Given the description of an element on the screen output the (x, y) to click on. 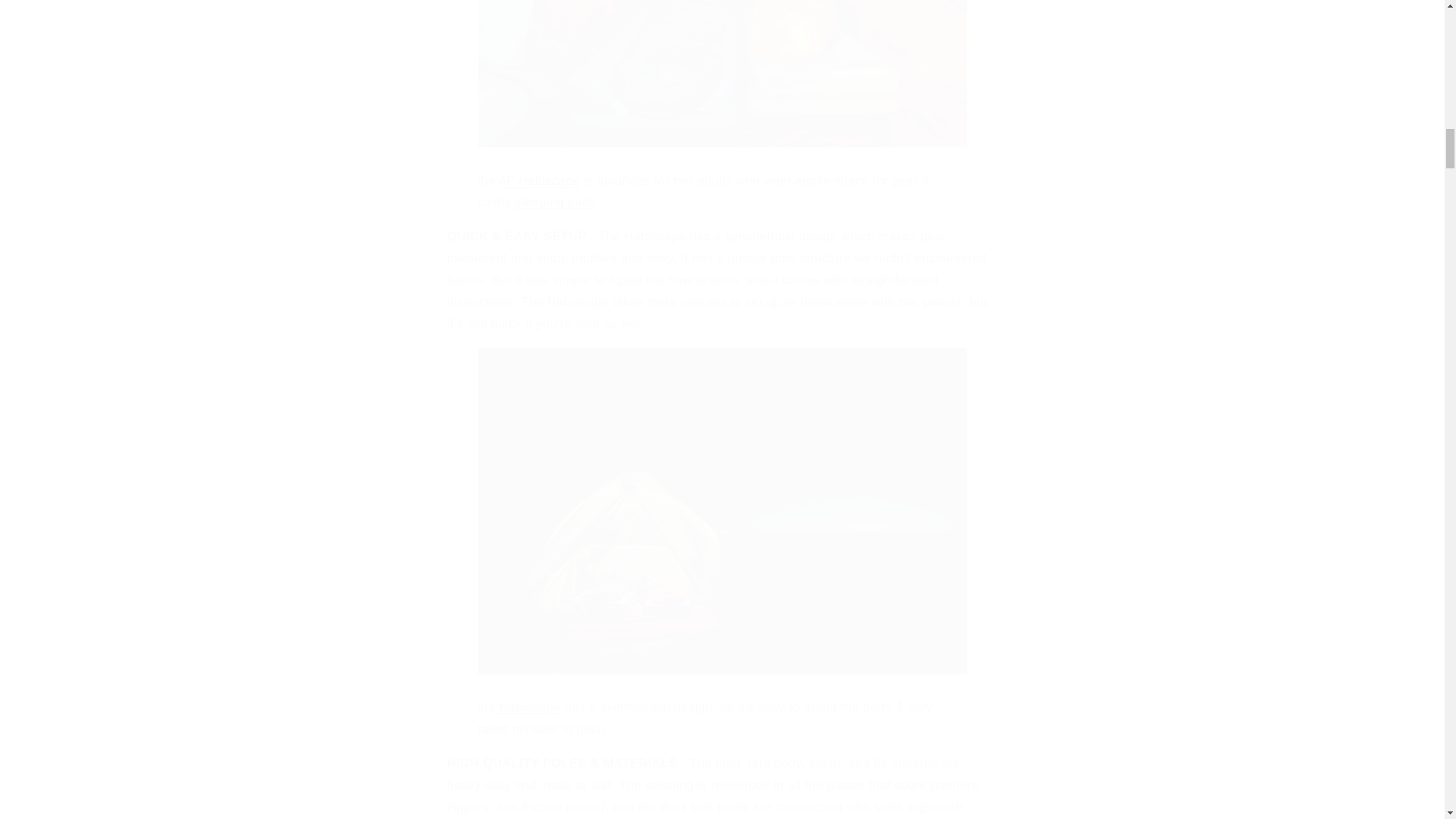
sleeping pads (555, 201)
Habiscape (528, 707)
4P Habiscape (539, 180)
